Given the description of an element on the screen output the (x, y) to click on. 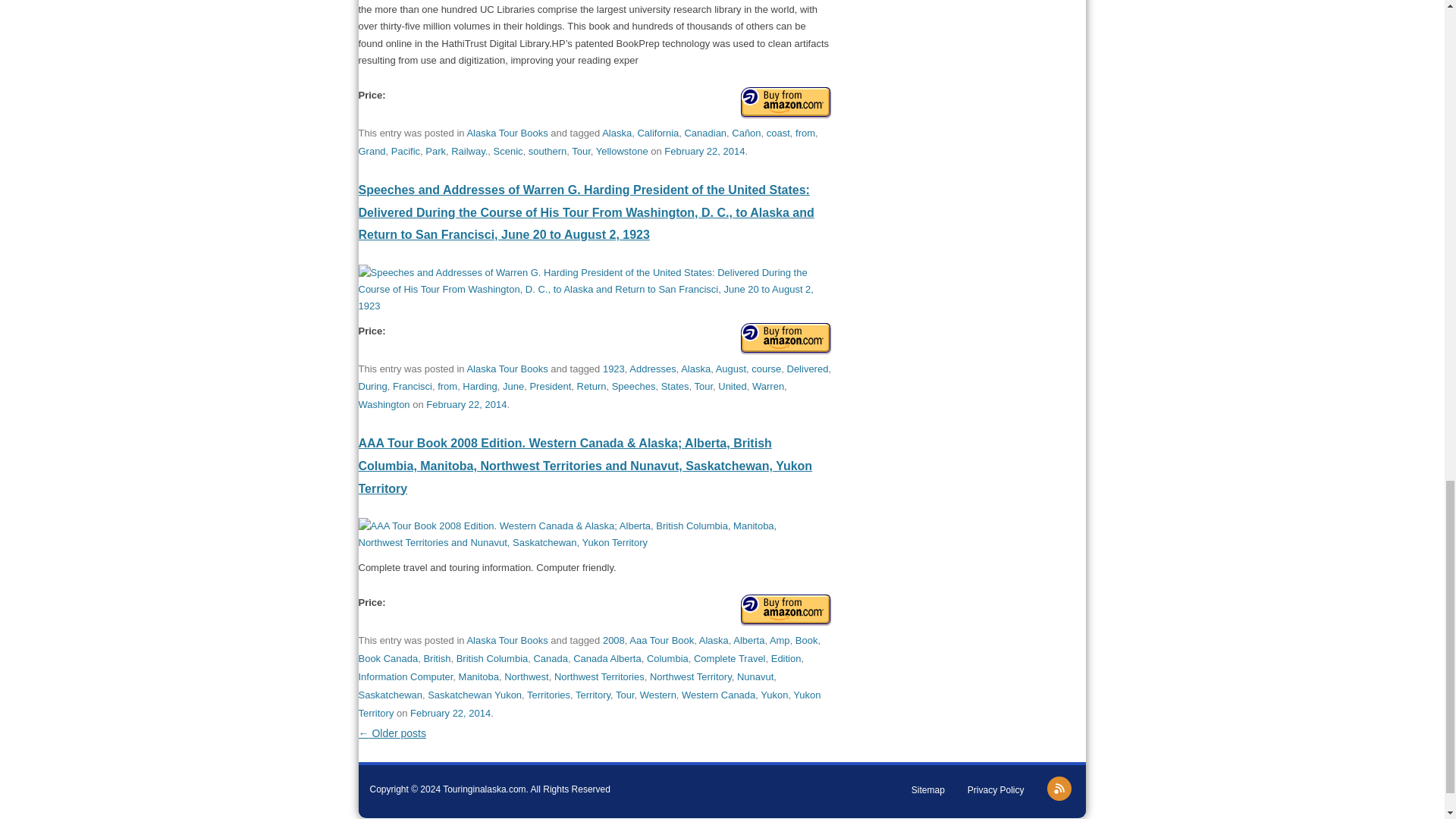
10:48 pm (703, 151)
6:26 pm (450, 713)
10:03 pm (466, 404)
